Given the description of an element on the screen output the (x, y) to click on. 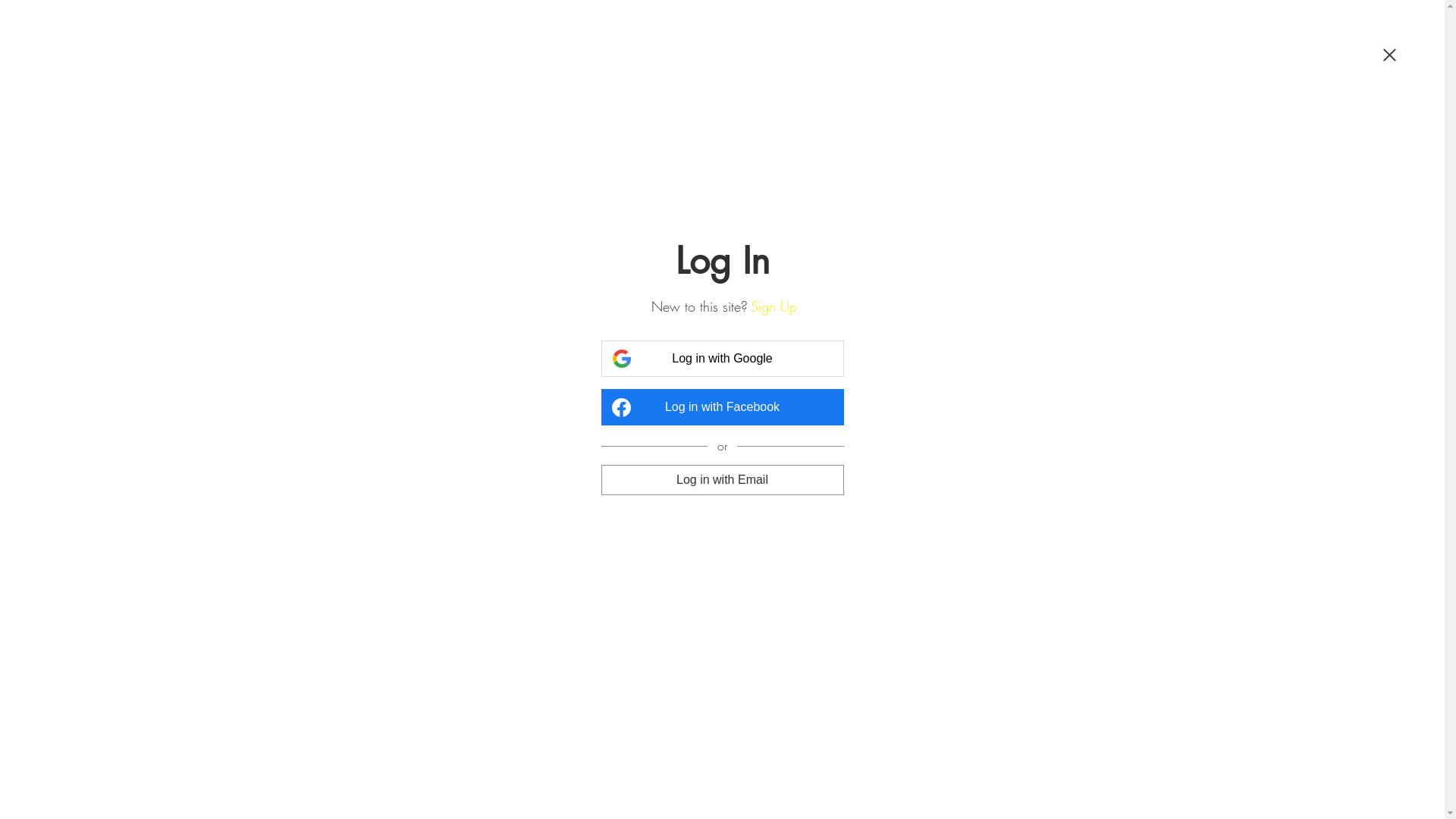
Log in with Google Element type: text (721, 358)
Log in with Facebook Element type: text (721, 407)
Log in with Email Element type: text (721, 479)
Sign Up Element type: text (773, 306)
